Given the description of an element on the screen output the (x, y) to click on. 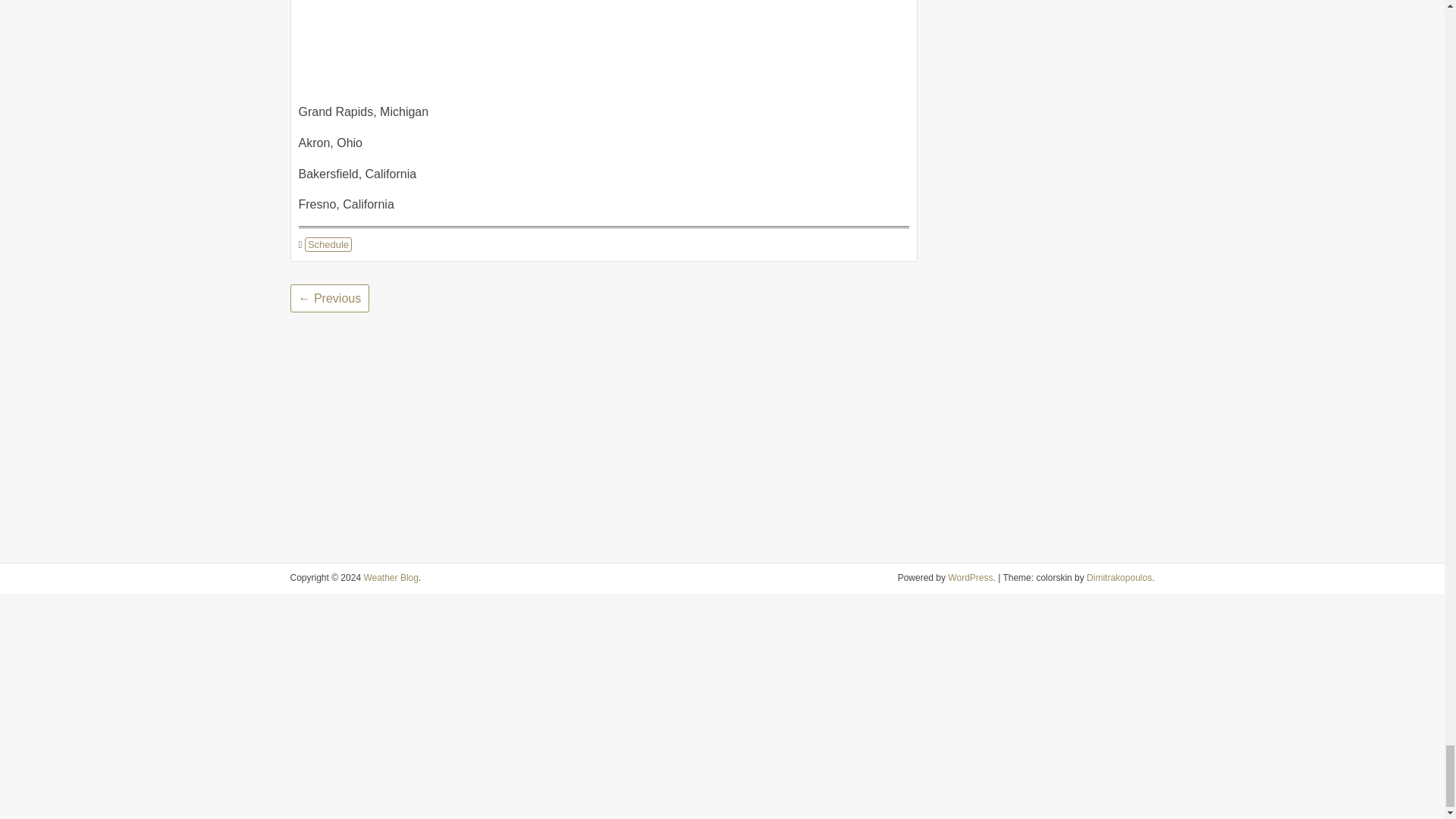
WordPress (969, 577)
Weather Blog (390, 577)
colorskin (1118, 577)
